Given the description of an element on the screen output the (x, y) to click on. 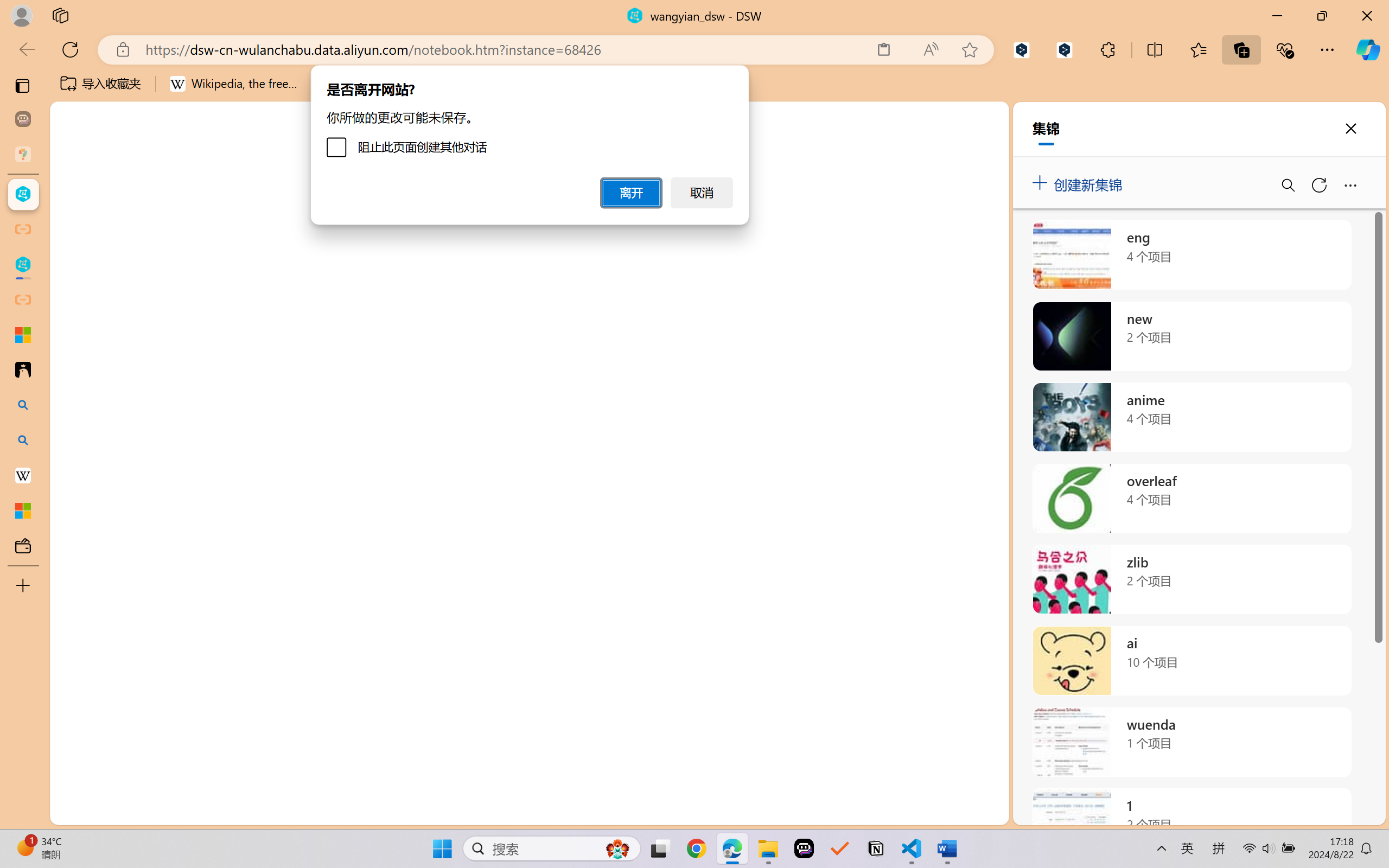
Outline Section (179, 769)
Ports - 5 forwarded ports (630, 565)
Notifications (1363, 812)
Terminal 3 bash (1326, 635)
Run and Debug (Ctrl+Shift+D) (73, 375)
Terminal 1 bash (1326, 593)
